Given the description of an element on the screen output the (x, y) to click on. 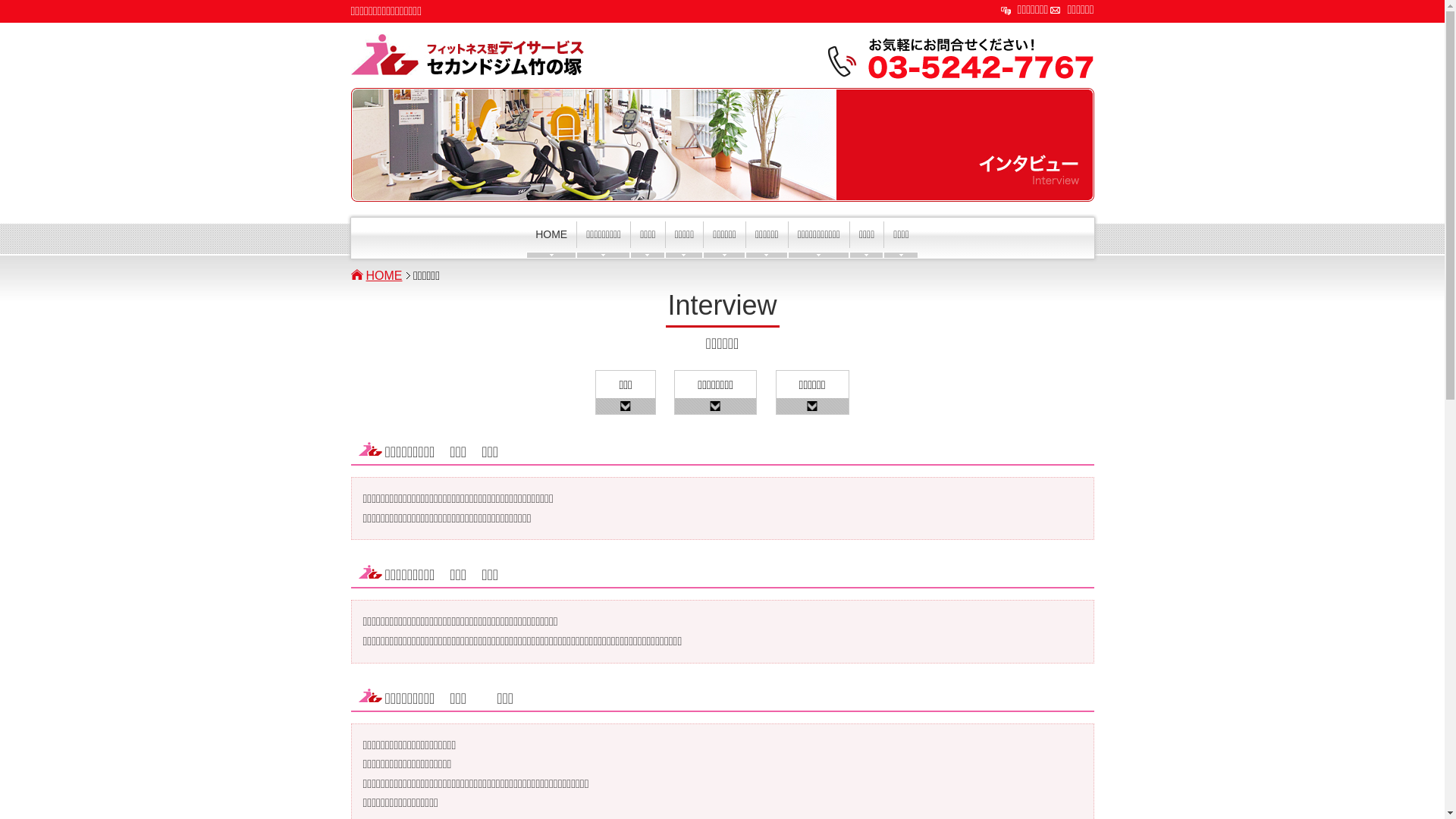
HOME Element type: text (551, 239)
HOME Element type: text (387, 275)
